Given the description of an element on the screen output the (x, y) to click on. 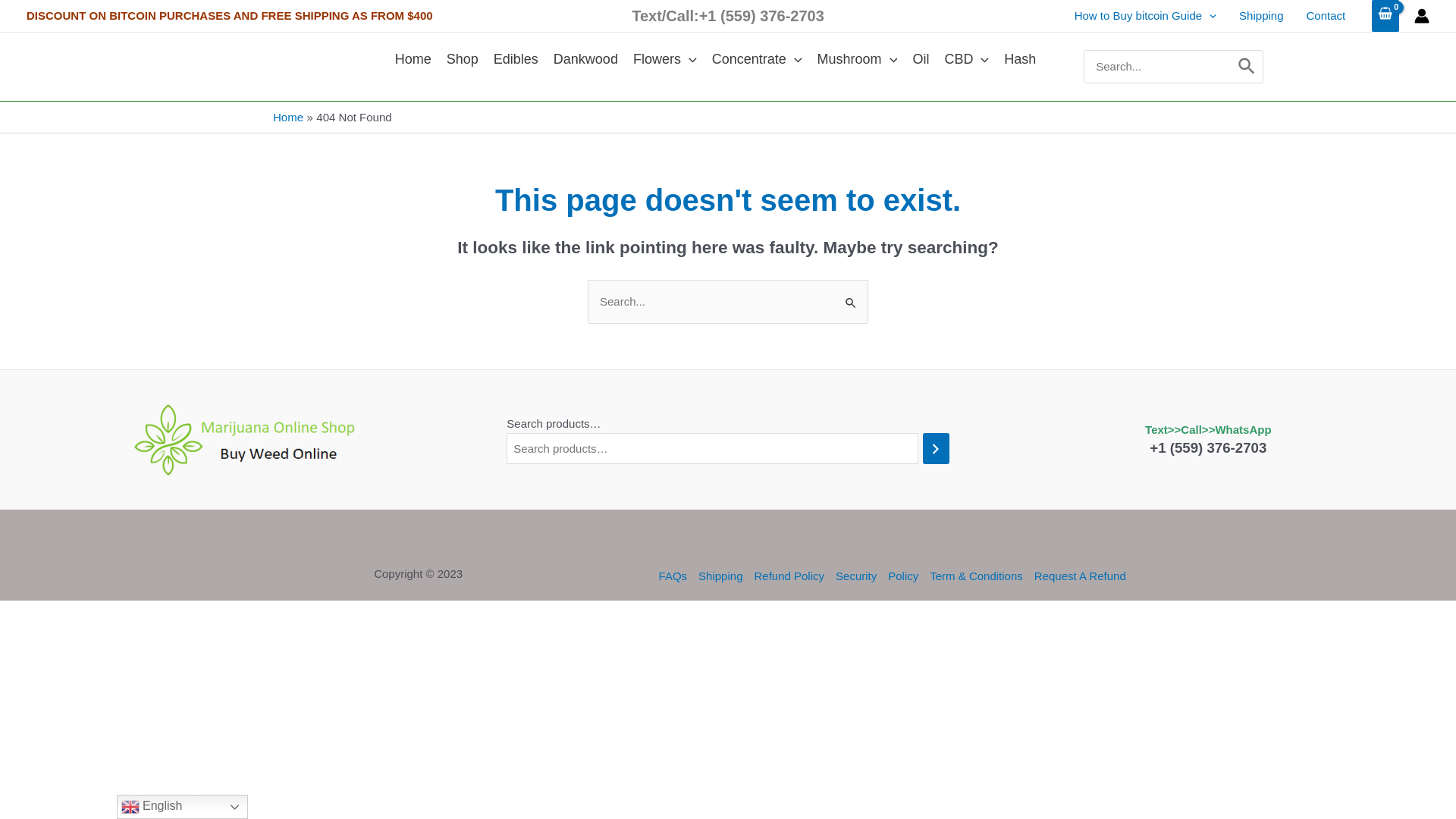
Search Element type: text (851, 294)
Mushroom Element type: text (857, 58)
Search Element type: text (1247, 66)
Flowers Element type: text (664, 58)
Edibles Element type: text (516, 58)
Hash Element type: text (1019, 58)
Term & Conditions Element type: text (976, 576)
How to Buy bitcoin Guide Element type: text (1145, 15)
Home Element type: text (413, 58)
Concentrate Element type: text (756, 58)
FAQs Element type: text (675, 576)
Shipping Element type: text (720, 576)
Oil Element type: text (920, 58)
Security Element type: text (856, 576)
Home Element type: text (288, 116)
Shipping Element type: text (1260, 15)
Policy Element type: text (903, 576)
Dankwood Element type: text (585, 58)
Shop Element type: text (462, 58)
Contact Element type: text (1326, 15)
Request A Refund Element type: text (1076, 576)
CBD Element type: text (966, 58)
Refund Policy Element type: text (789, 576)
